Given the description of an element on the screen output the (x, y) to click on. 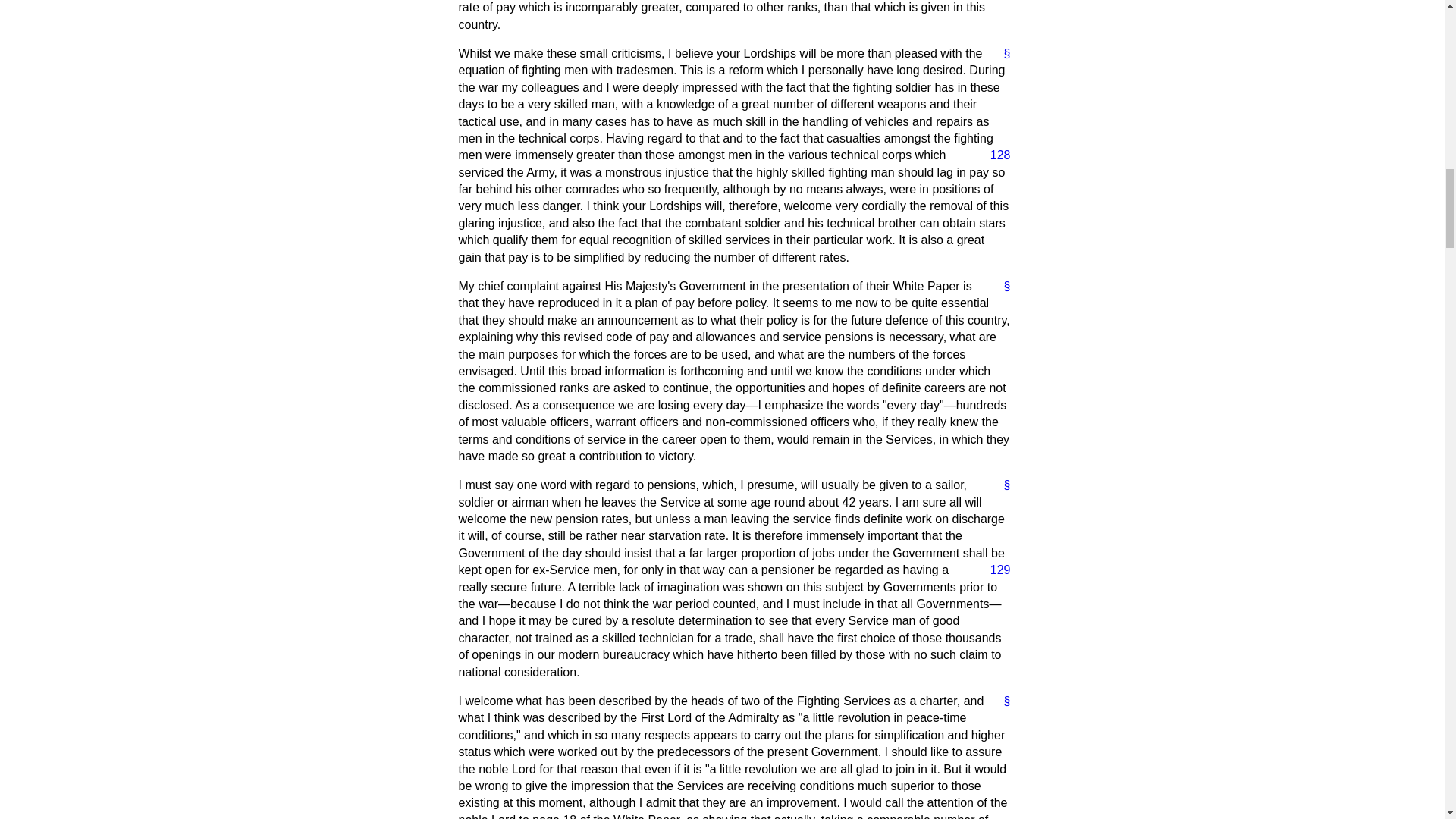
Link to this contribution (1000, 701)
129 (994, 569)
Link to this contribution (1000, 484)
Link to this contribution (1000, 286)
128 (994, 155)
Link to this contribution (1000, 53)
